Given the description of an element on the screen output the (x, y) to click on. 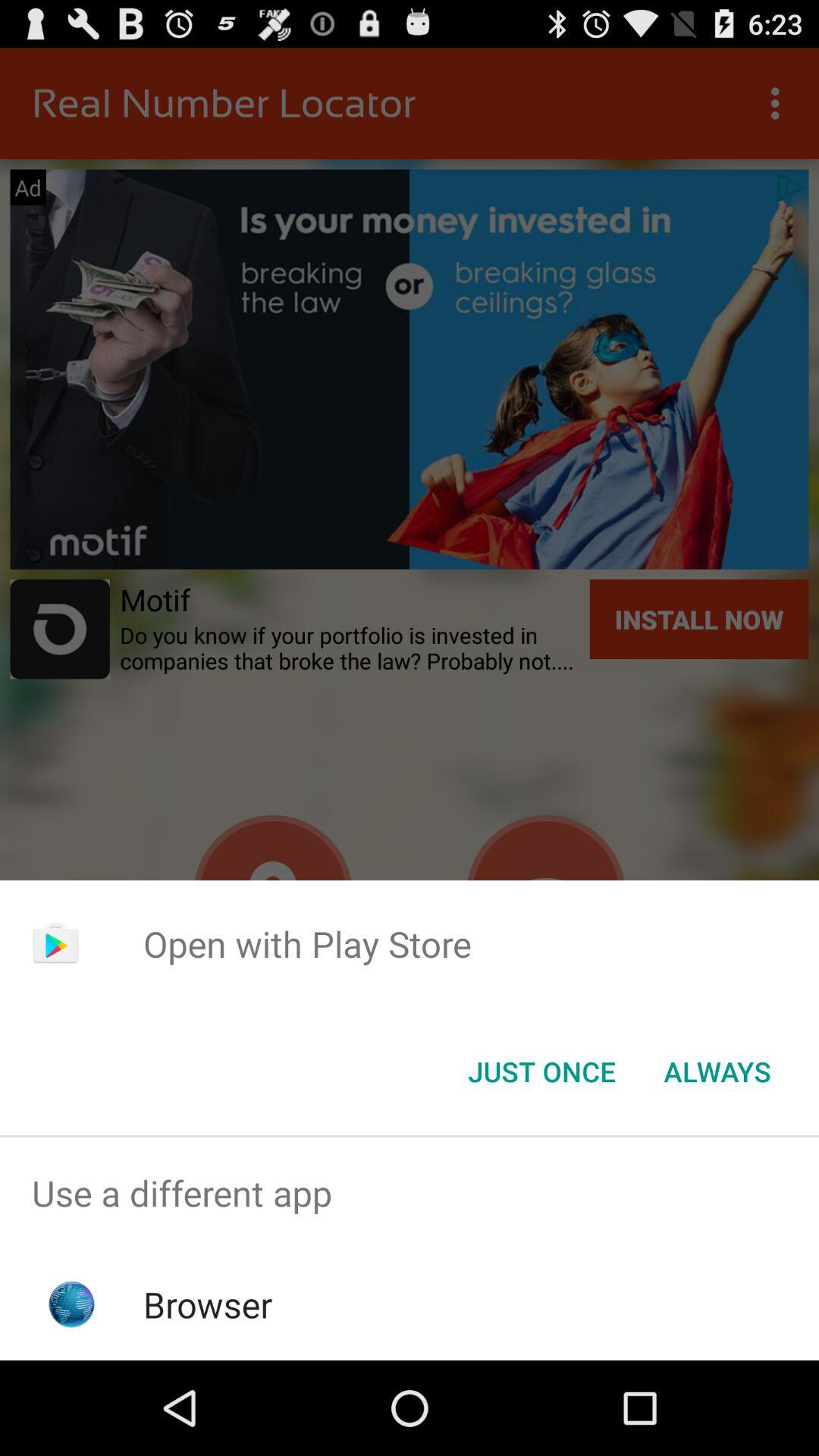
turn off icon below open with play (541, 1071)
